Given the description of an element on the screen output the (x, y) to click on. 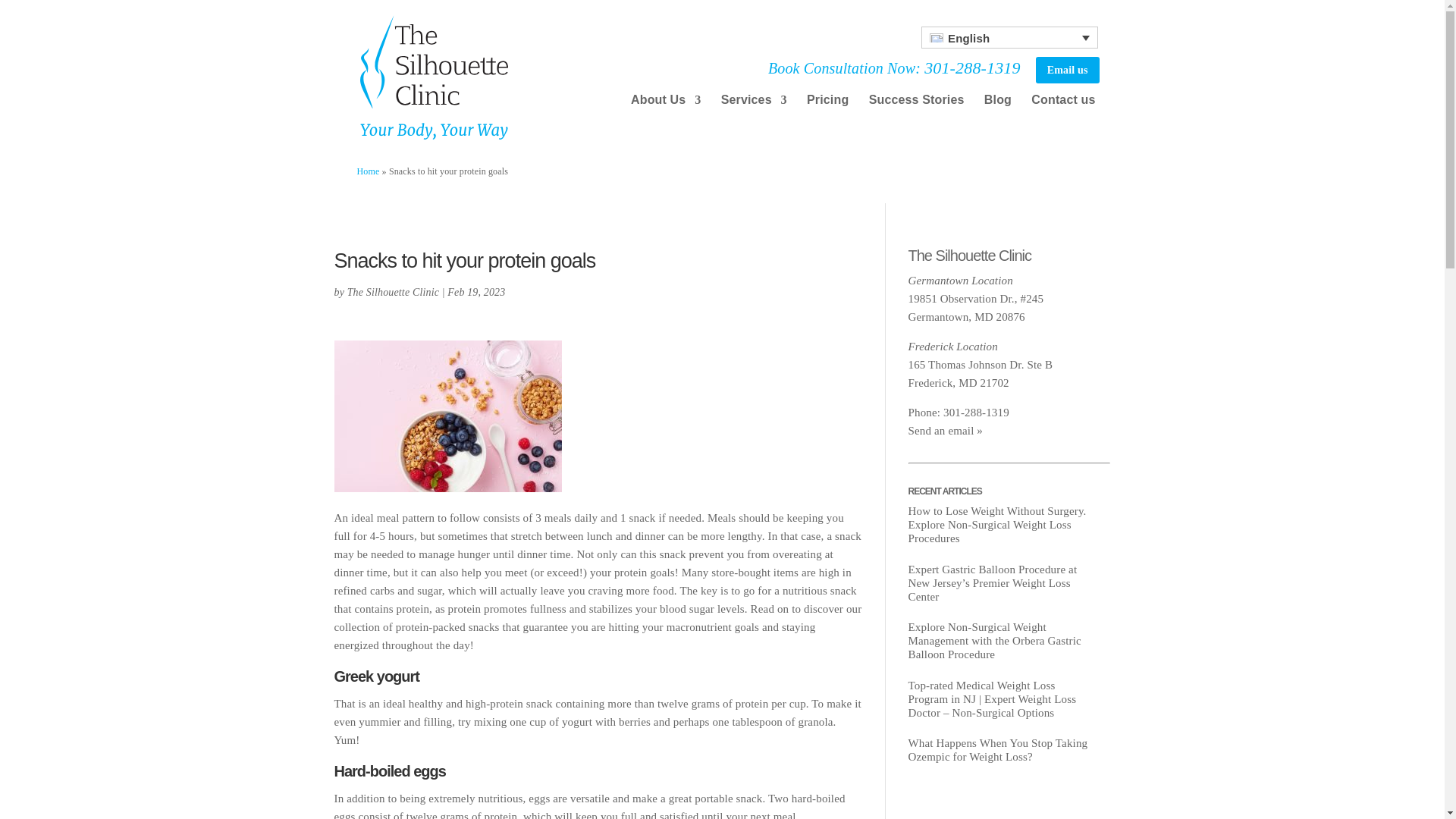
Posts by The Silhouette Clinic (393, 292)
Blog (997, 107)
Success Stories (916, 107)
Services (753, 107)
Contact us (1062, 107)
About Us (665, 107)
301-288-1319 (972, 67)
Pricing (827, 107)
Email us (1067, 69)
English (1009, 37)
